Given the description of an element on the screen output the (x, y) to click on. 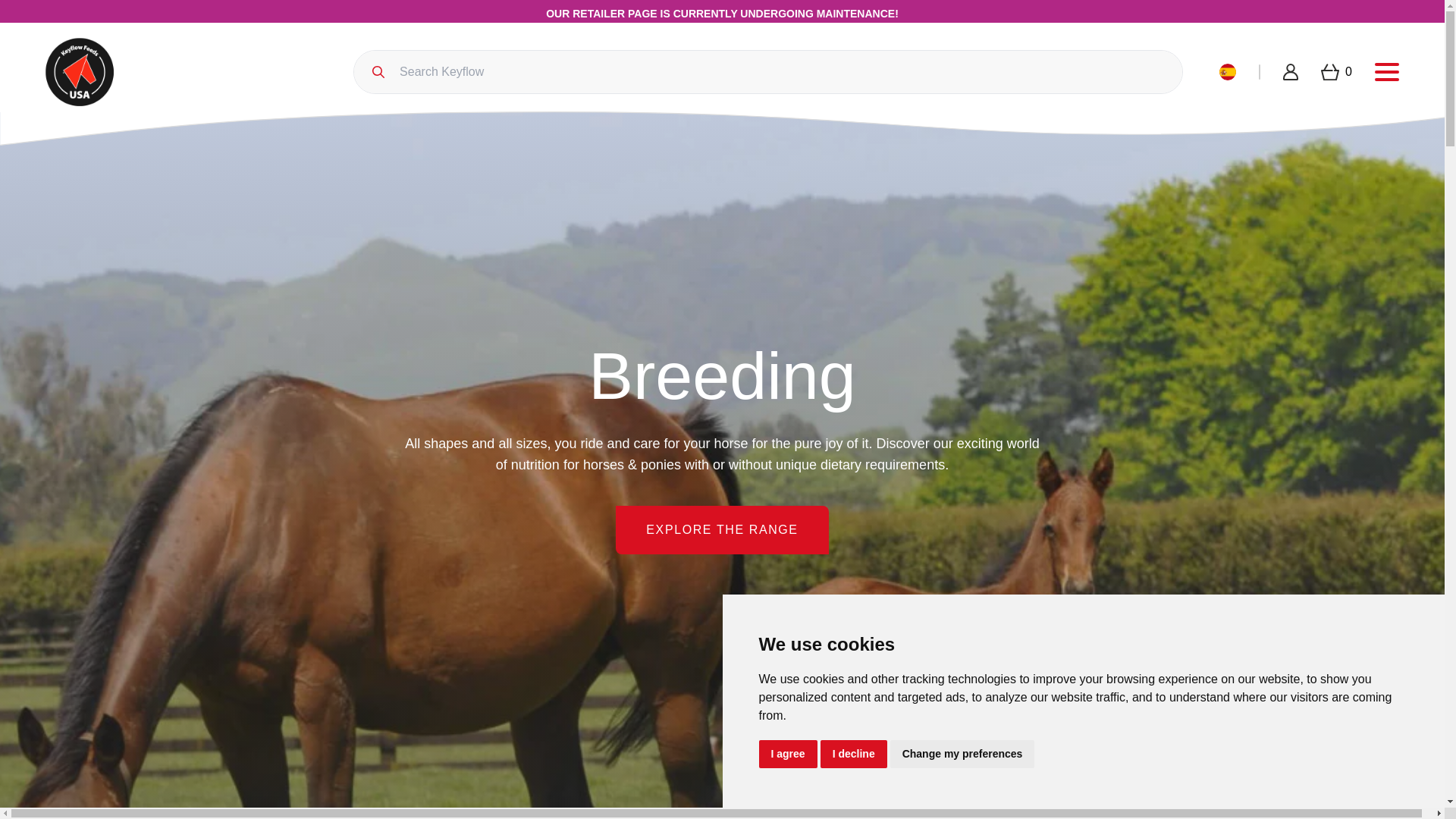
I decline (853, 754)
OUR RETAILER PAGE IS CURRENTLY UNDERGOING MAINTENANCE! (722, 13)
Change my preferences (962, 754)
I agree (787, 754)
EXPLORE THE RANGE (721, 530)
